Given the description of an element on the screen output the (x, y) to click on. 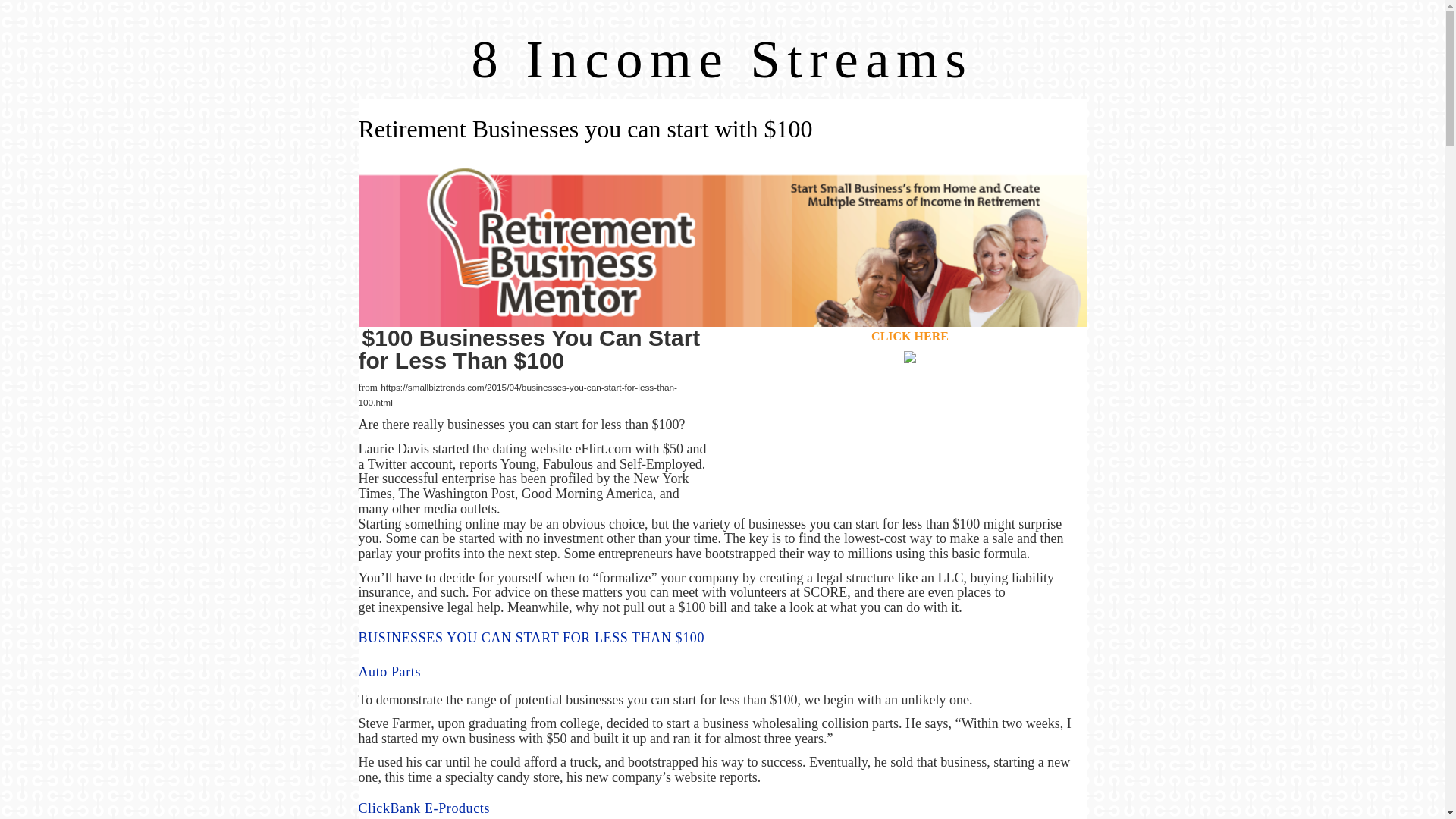
8 Income Streams (722, 58)
CLICK HERE (909, 336)
